Given the description of an element on the screen output the (x, y) to click on. 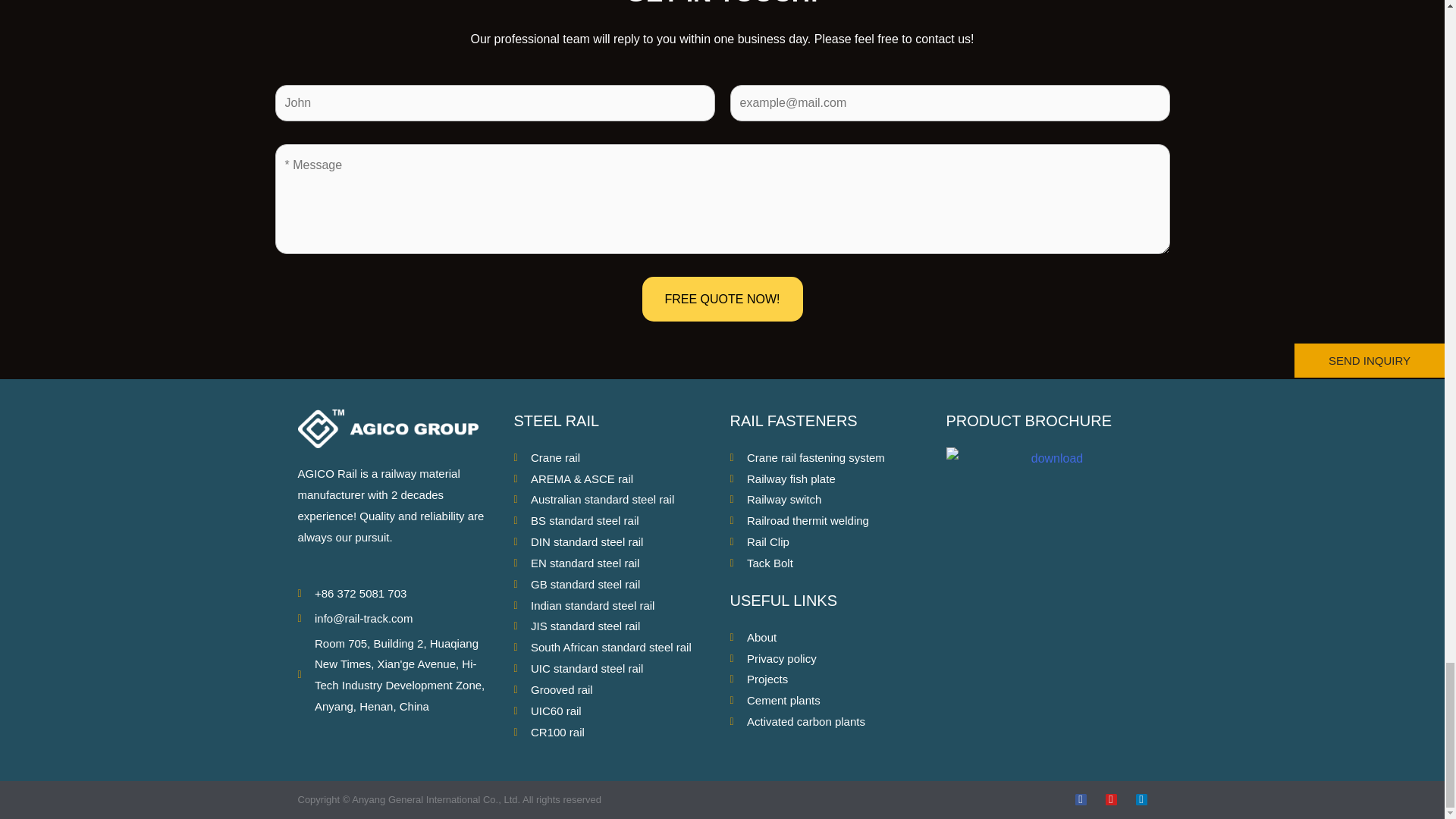
FREE Quote Now! (722, 299)
